Given the description of an element on the screen output the (x, y) to click on. 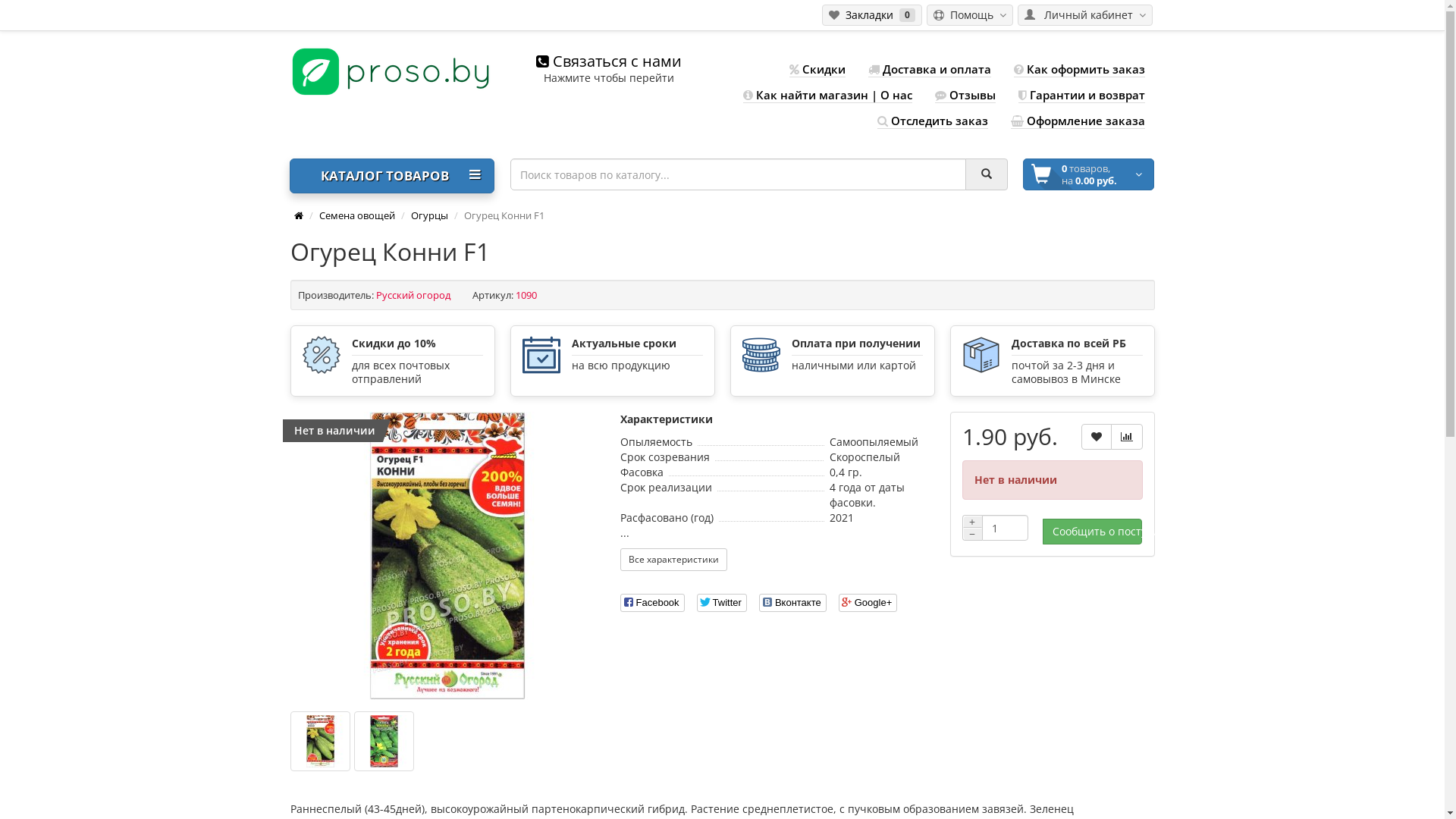
+ Element type: text (972, 521)
